Given the description of an element on the screen output the (x, y) to click on. 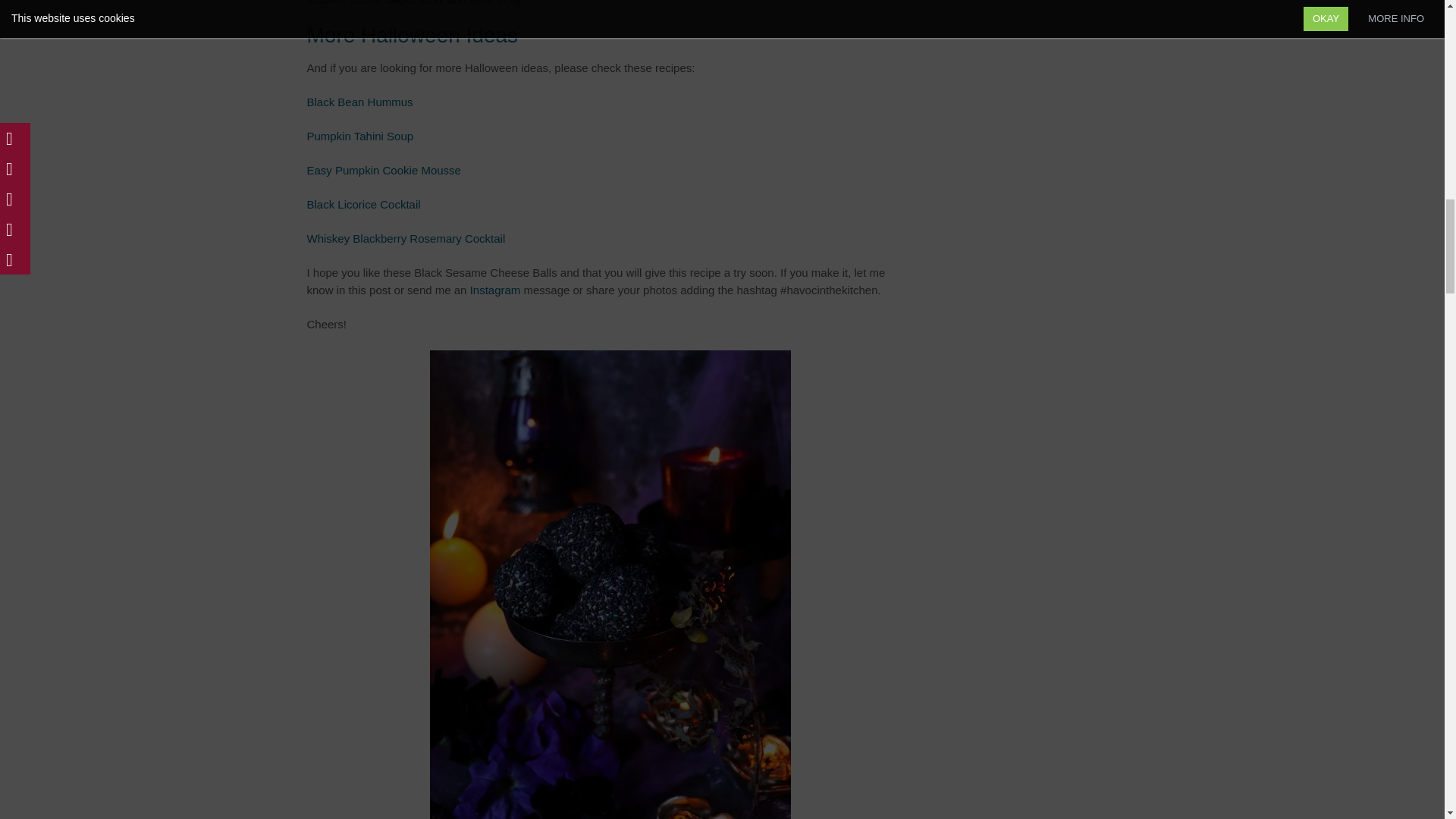
Pumpkin Tahini Soup (359, 135)
Black Licorice Cocktail (362, 204)
Easy Pumpkin Cookie Mousse (382, 169)
Whiskey Blackberry Rosemary Cocktail (405, 237)
Black Bean Hummus (358, 101)
Instagram  (497, 289)
